Given the description of an element on the screen output the (x, y) to click on. 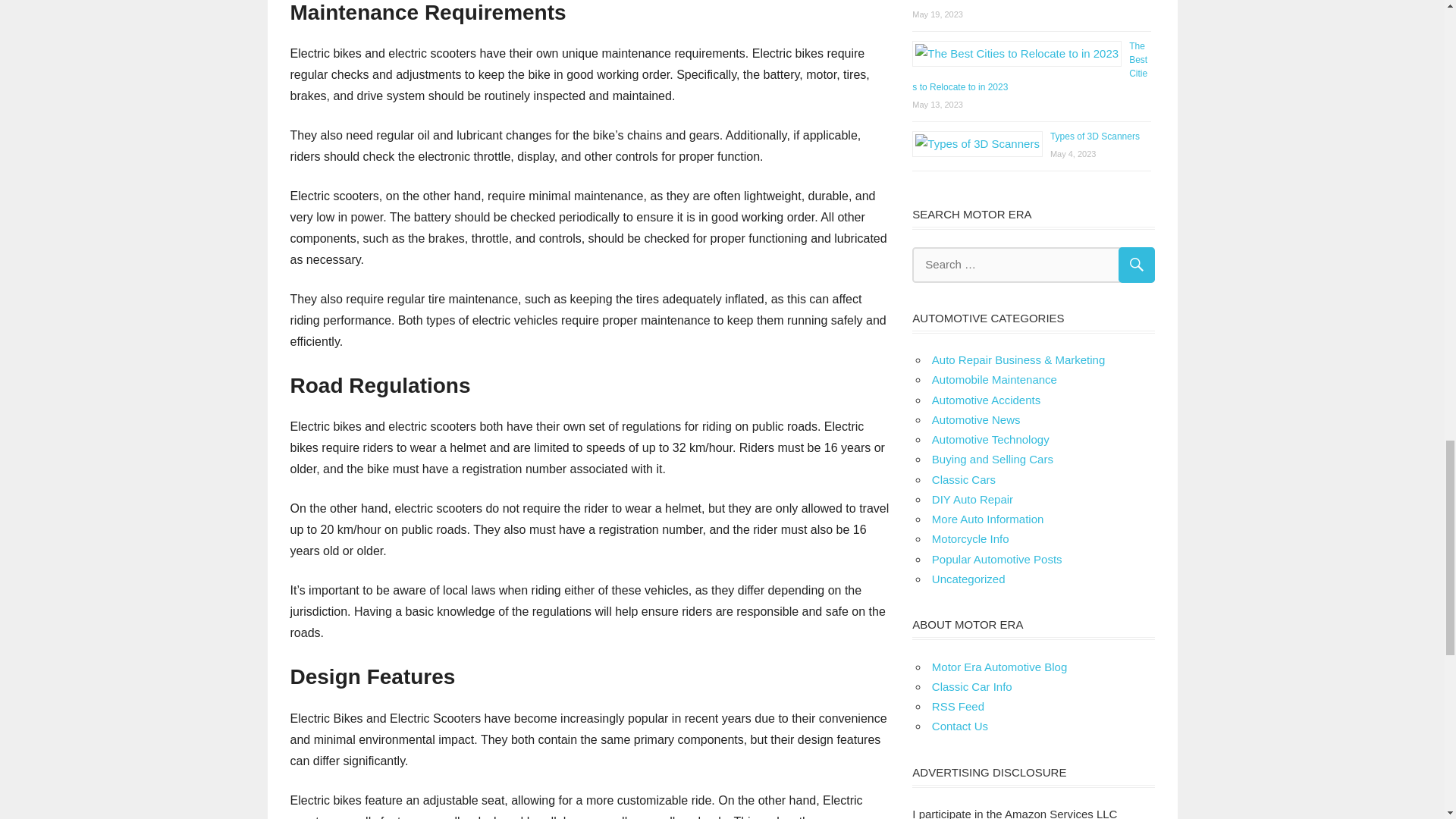
Permalink to The Best Cities to Relocate to in 2023 (1029, 66)
Permalink to Types of 3D Scanners (1094, 136)
Search for: (1033, 264)
